Given the description of an element on the screen output the (x, y) to click on. 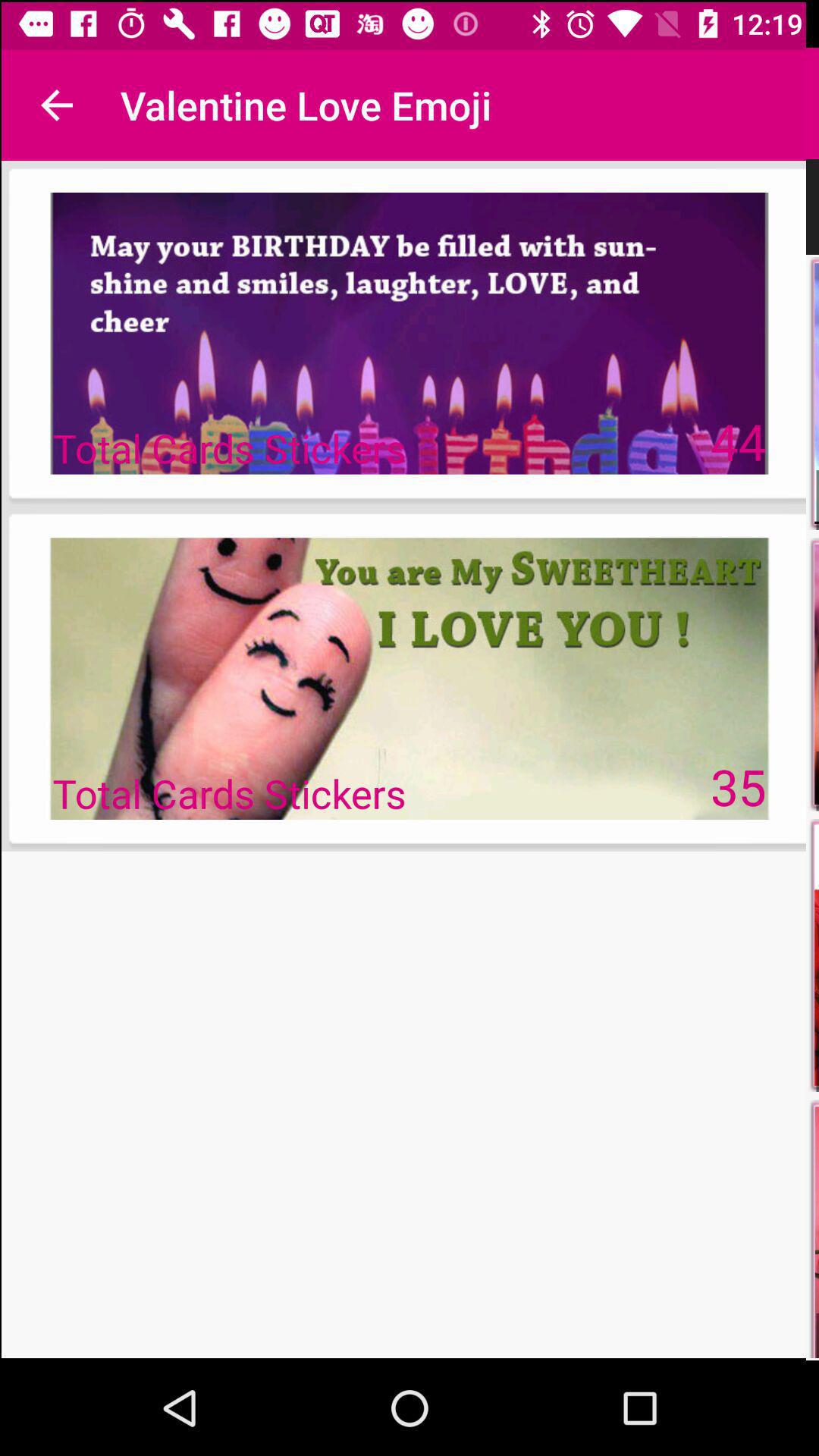
flip until the 44 (739, 440)
